Given the description of an element on the screen output the (x, y) to click on. 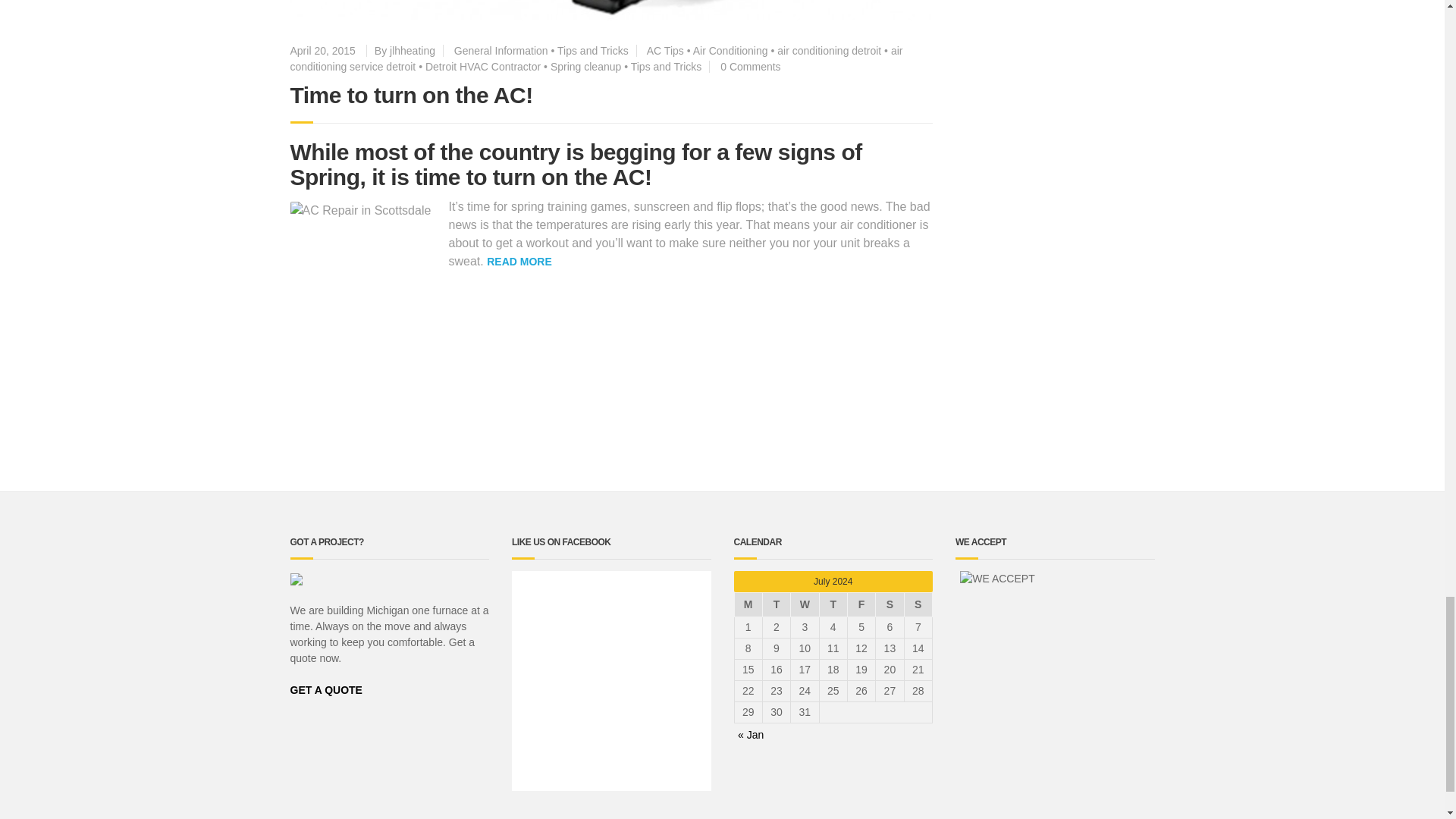
air conditioning service detroit (595, 58)
Thursday (832, 604)
Monday (747, 604)
air conditioning detroit (828, 50)
Tips and Tricks (592, 50)
Friday (861, 604)
Tuesday (775, 604)
General Information (501, 50)
Detroit HVAC Contractor (482, 66)
Saturday (890, 604)
AC Tips (665, 50)
Sunday (917, 604)
Wednesday (804, 604)
Air Conditioning (730, 50)
